Given the description of an element on the screen output the (x, y) to click on. 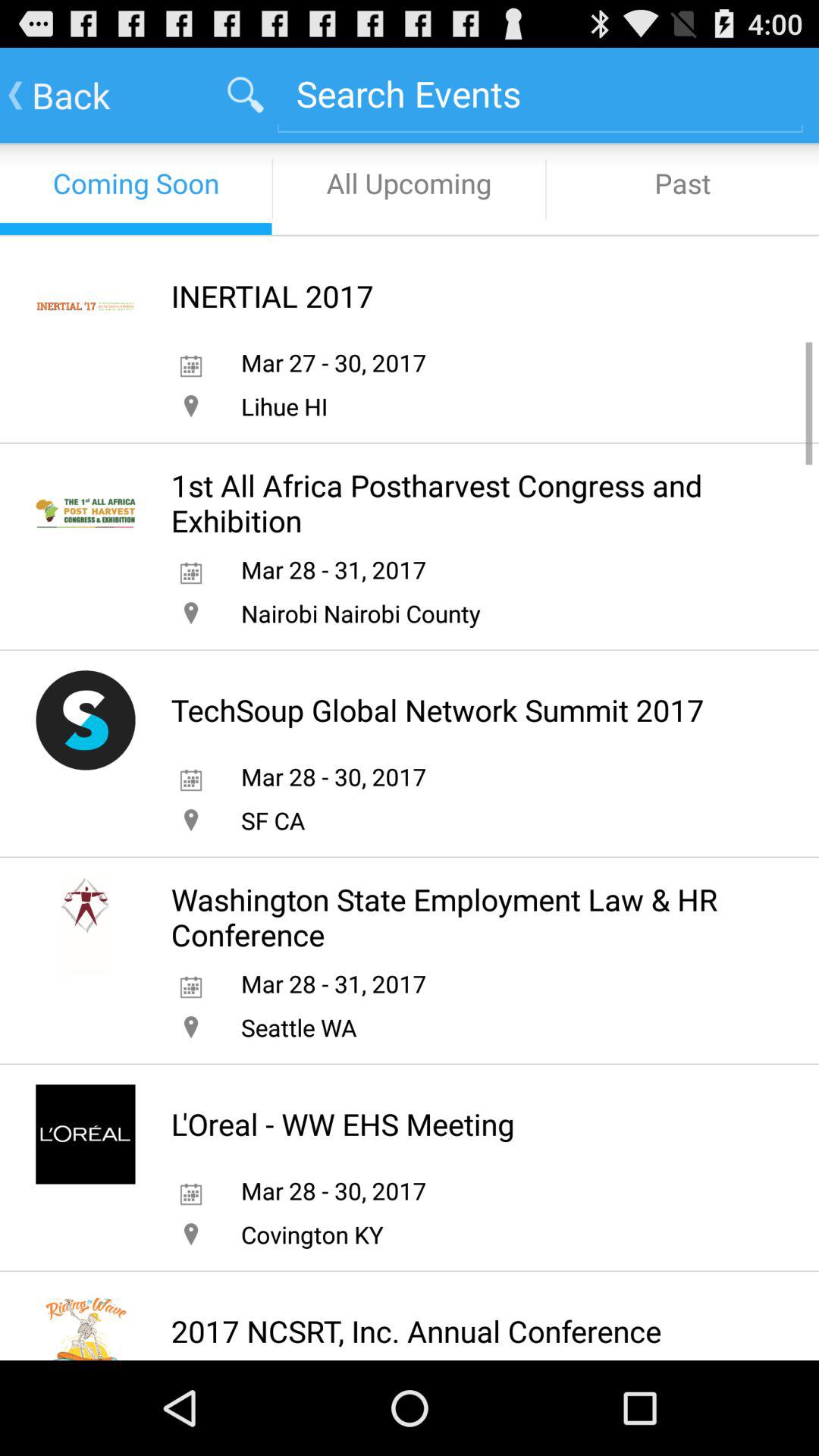
search events (540, 93)
